Given the description of an element on the screen output the (x, y) to click on. 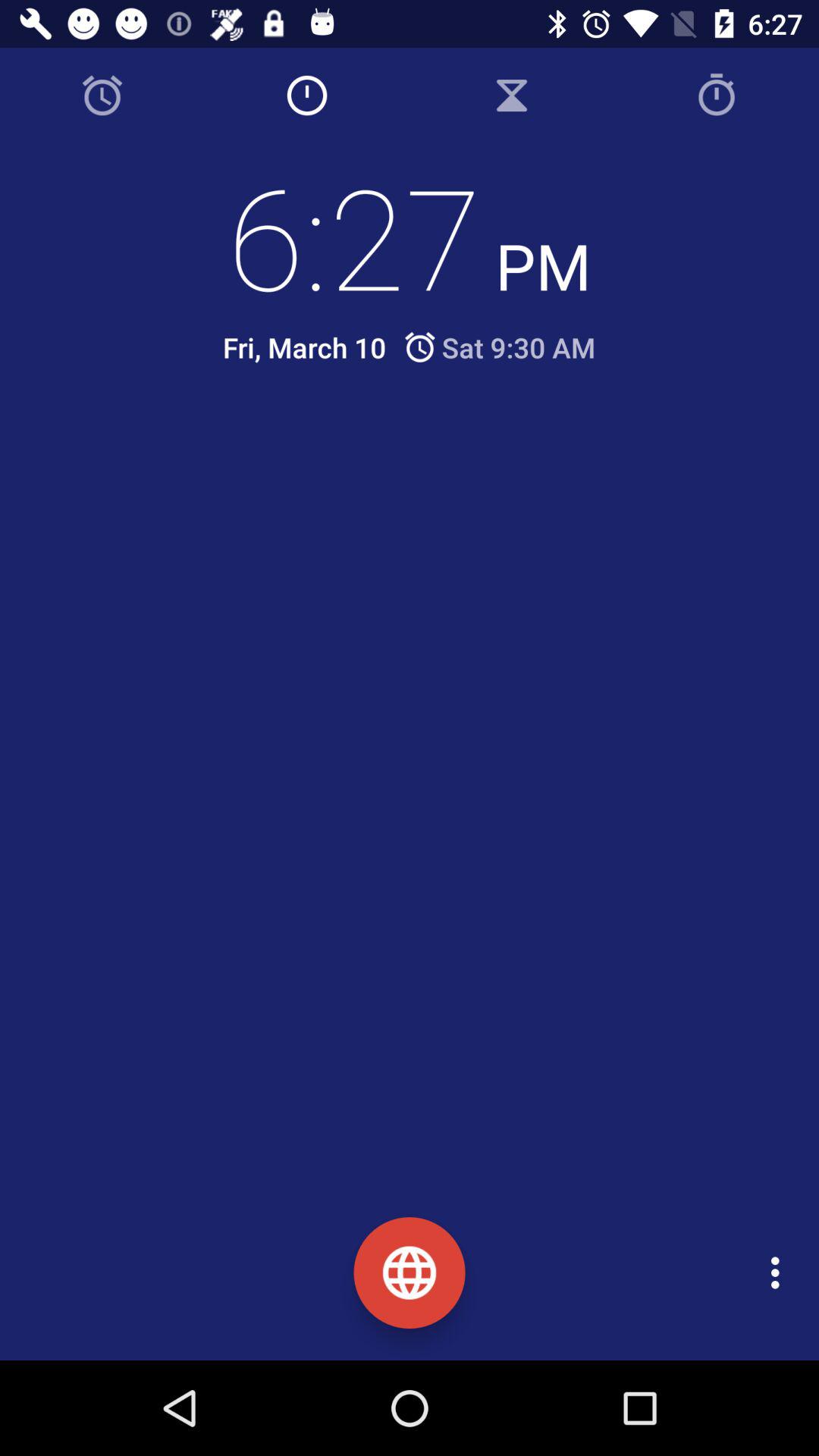
scroll to fri, march 10 item (304, 347)
